Given the description of an element on the screen output the (x, y) to click on. 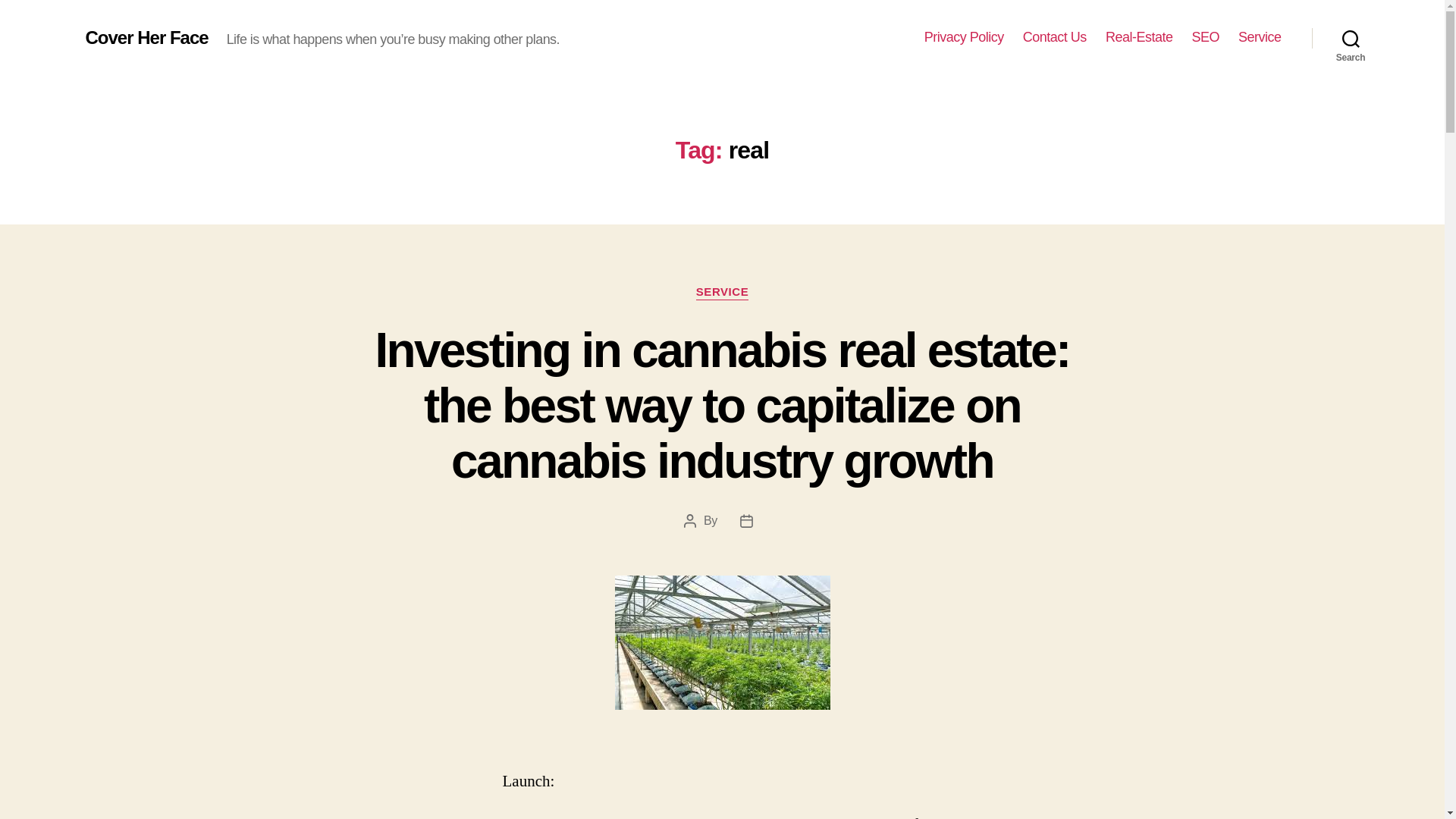
SEO (1205, 37)
Service (1260, 37)
Contact Us (1054, 37)
Real-Estate (1139, 37)
Cover Her Face (146, 37)
Search (1350, 37)
Privacy Policy (964, 37)
SERVICE (721, 292)
